Given the description of an element on the screen output the (x, y) to click on. 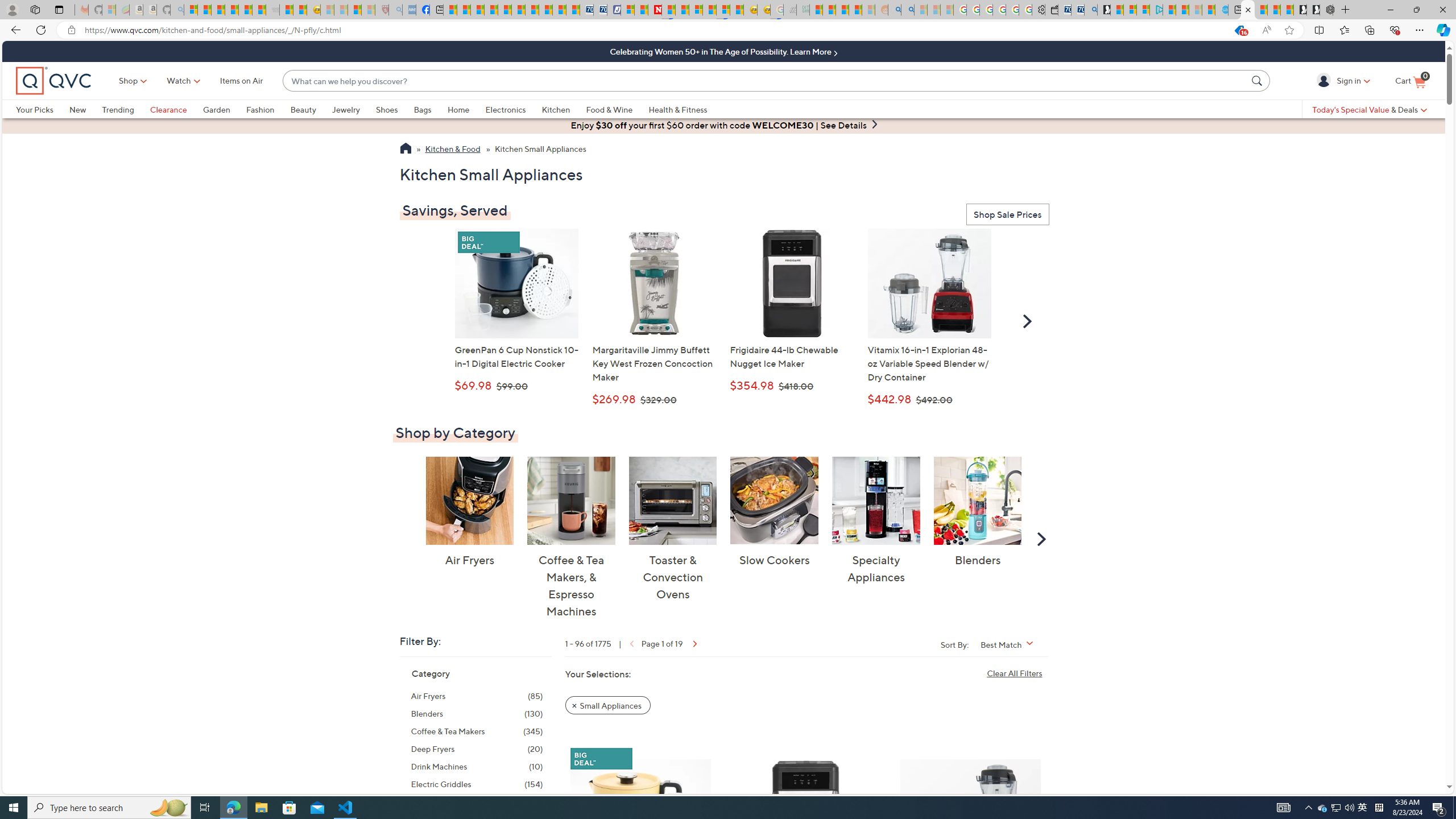
Air Fryers (469, 500)
Trending (125, 109)
Garden (224, 109)
 Frigidaire 44-lb Chewable Nugget Ice Maker - K86274 (791, 283)
Garden (216, 109)
Search Submit (1258, 80)
